Given the description of an element on the screen output the (x, y) to click on. 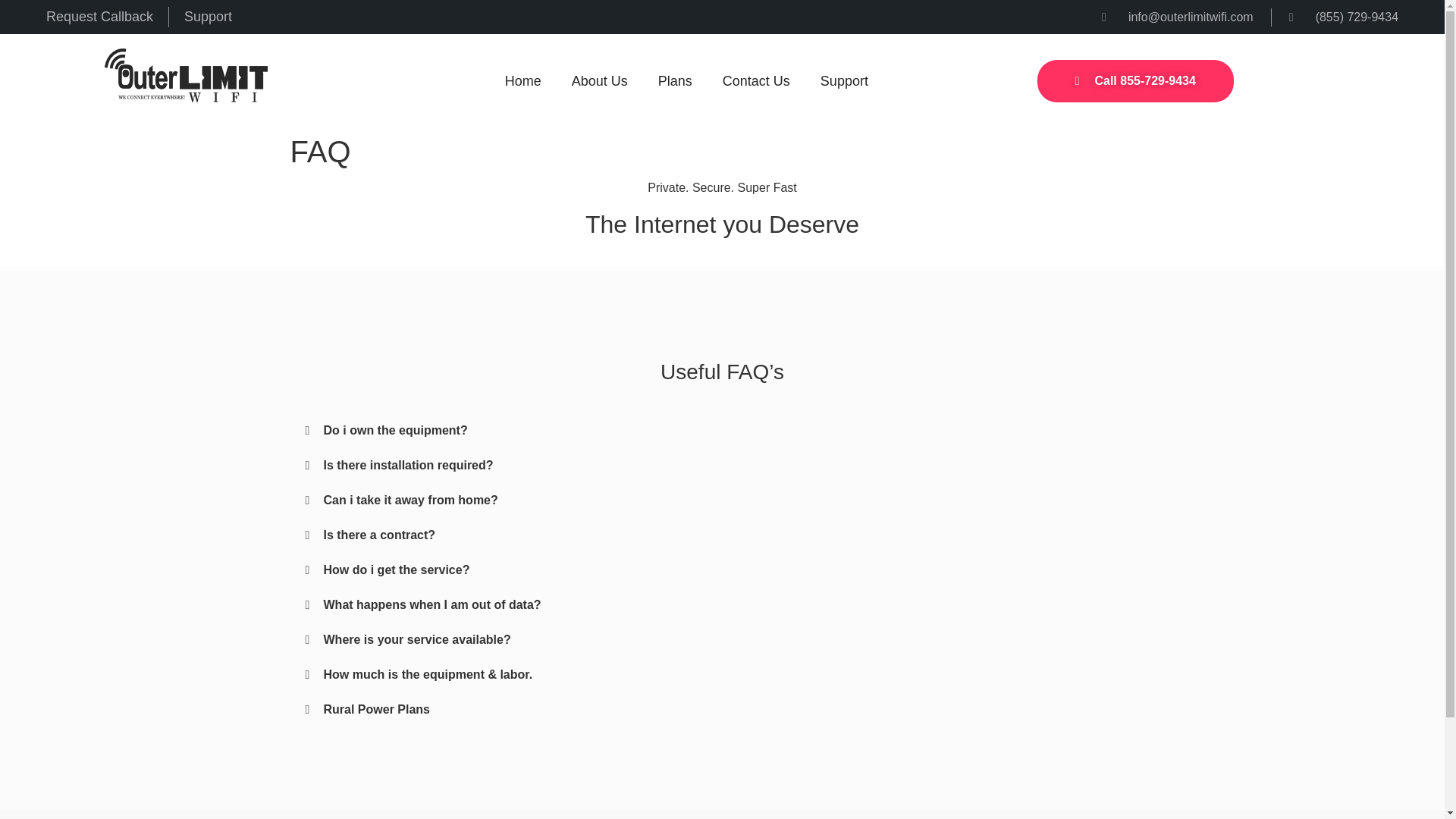
Where is your service available? (417, 639)
Support (844, 80)
Is there installation required? (408, 464)
Plans (675, 80)
Support (207, 16)
How do i get the service? (395, 569)
Contact Us (756, 80)
Can i take it away from home? (410, 499)
Rural Power Plans (376, 708)
What happens when I am out of data? (431, 604)
